Given the description of an element on the screen output the (x, y) to click on. 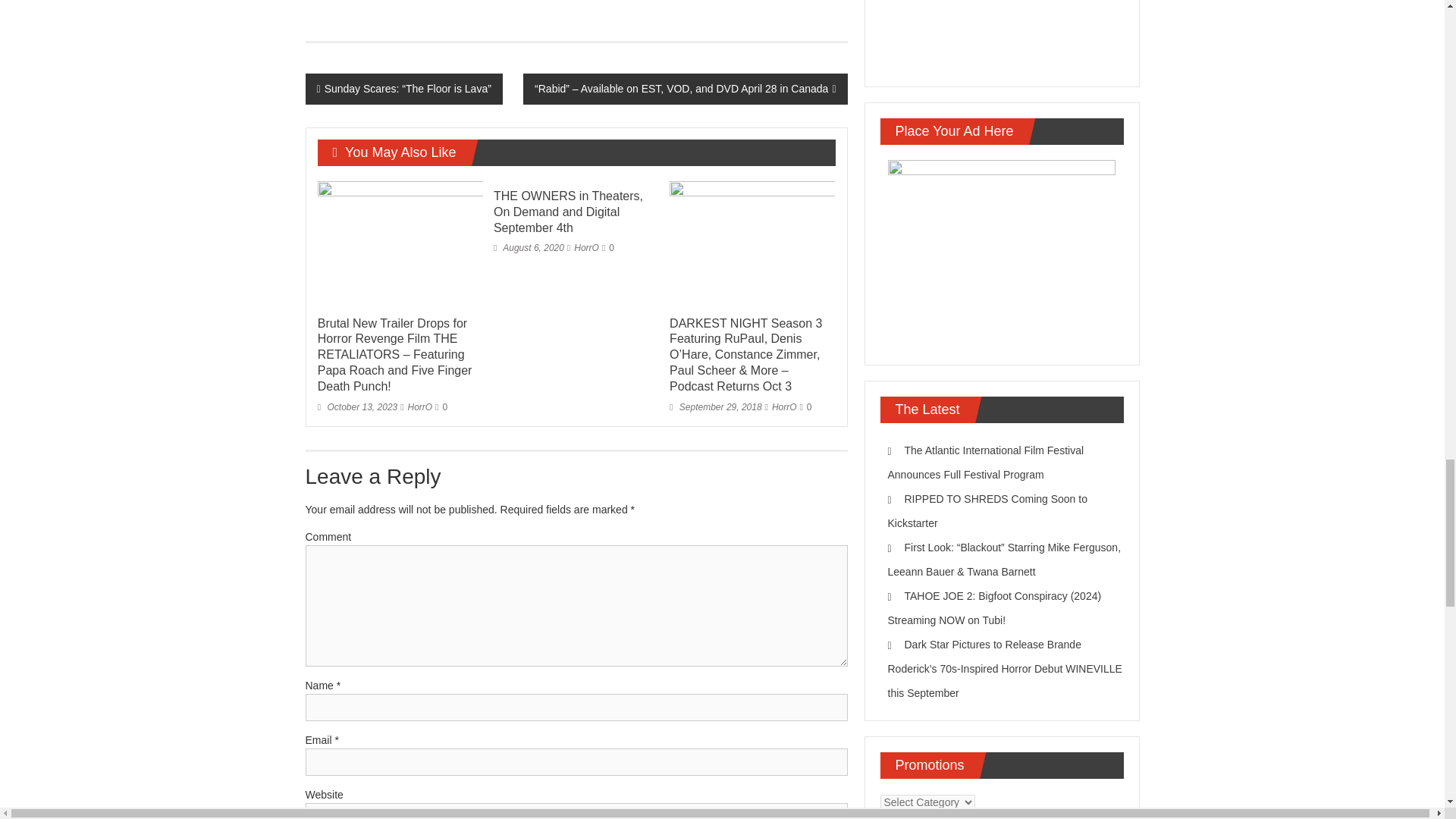
THE OWNERS in Theaters, On Demand and Digital September 4th (568, 211)
HorrO (783, 407)
3:00 pm (357, 407)
9:00 am (528, 247)
HorrO (419, 407)
3:00 pm (715, 407)
HorrO (585, 247)
